Given the description of an element on the screen output the (x, y) to click on. 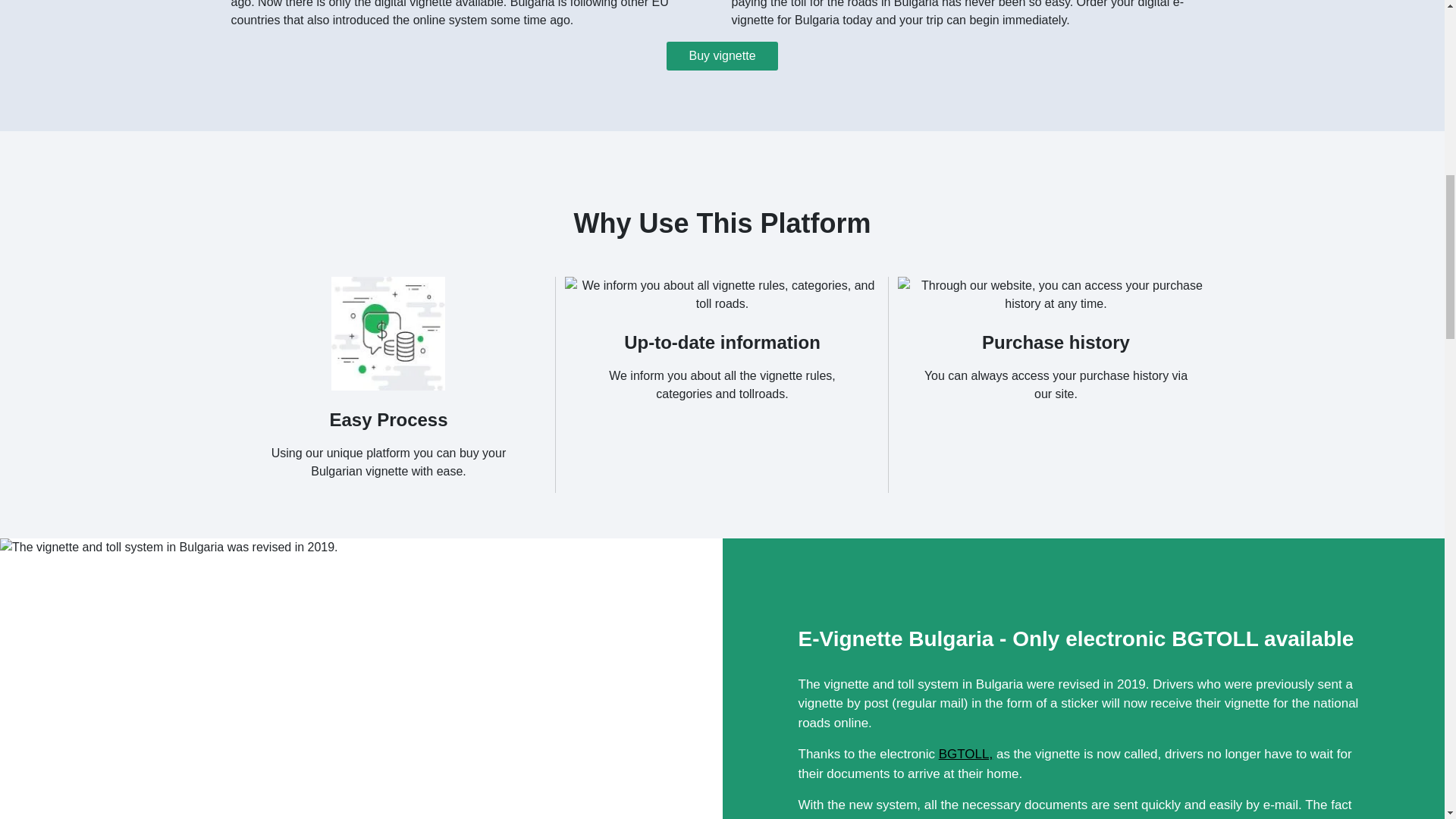
Electronic Vignette Bulgaria - Only electronic BGTOLL now (168, 678)
Buy vignette (721, 55)
Purchase history at Vignette Bulgaria  (1055, 294)
BGTOLL, (965, 753)
Buy your Bulgarian vignette easily (388, 333)
Vignette rules, categories and toll roads (721, 294)
